Given the description of an element on the screen output the (x, y) to click on. 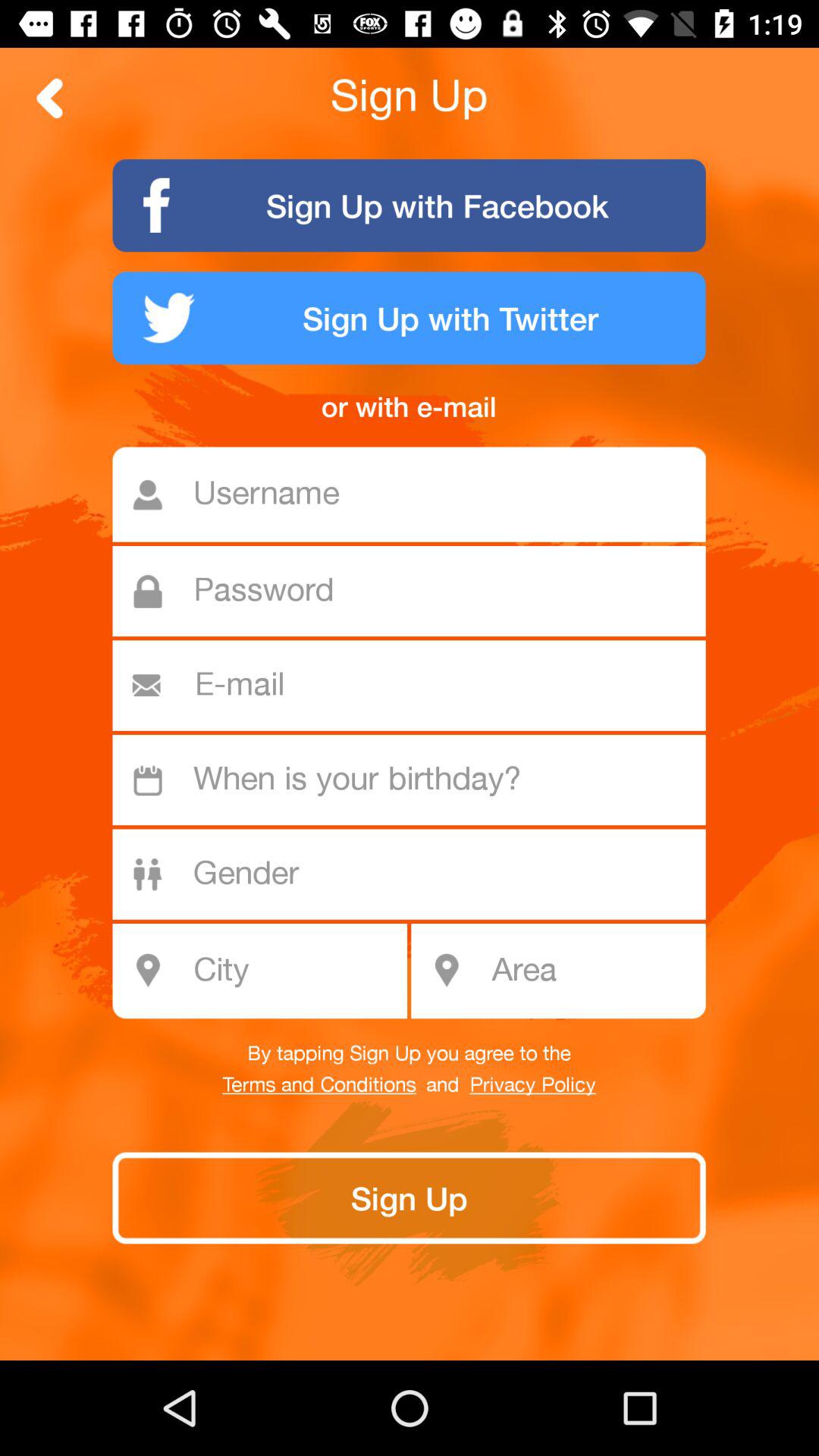
choose item below the by tapping sign item (319, 1085)
